Given the description of an element on the screen output the (x, y) to click on. 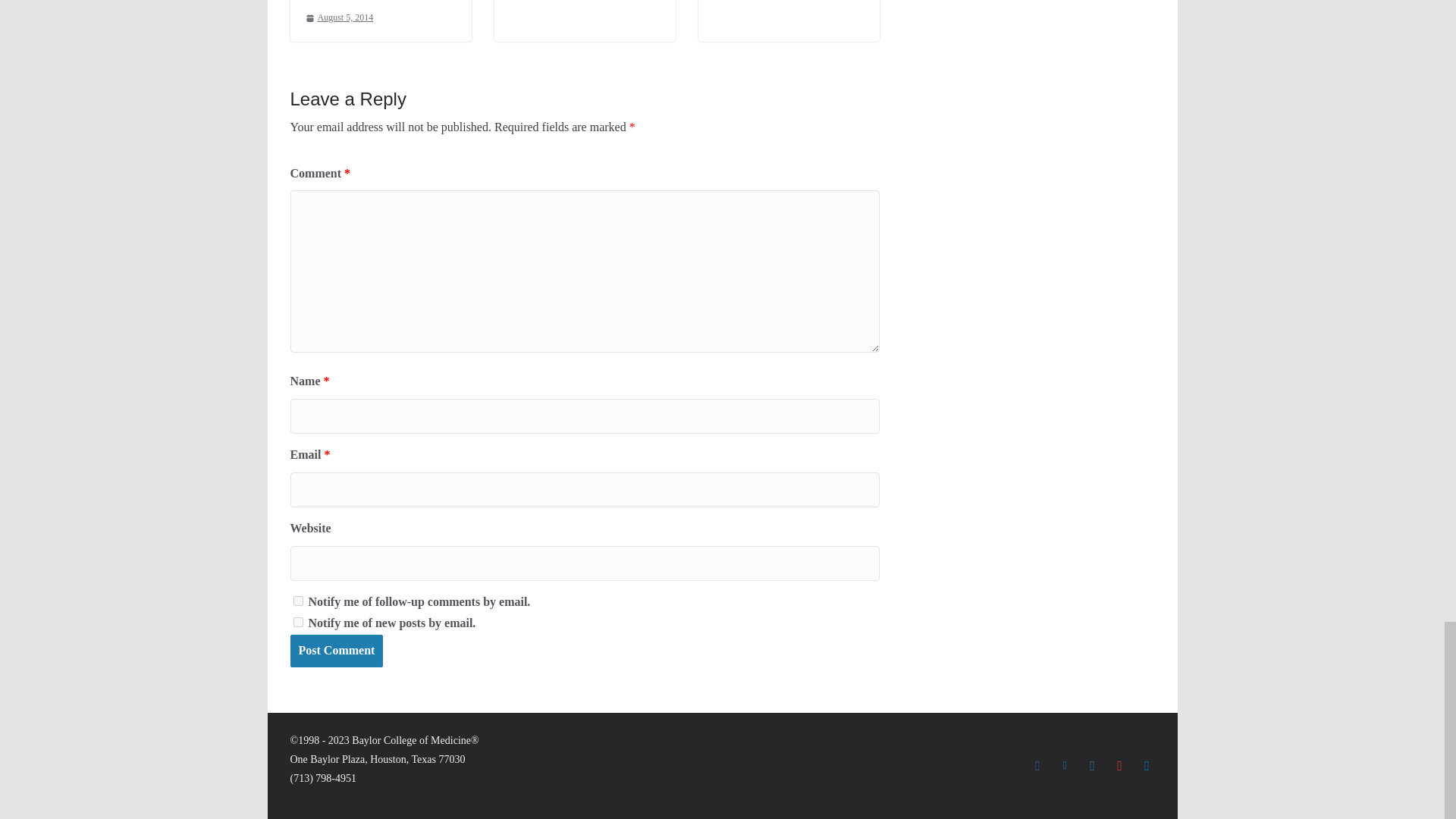
subscribe (297, 601)
3:15 pm (338, 17)
Post Comment (335, 650)
subscribe (297, 622)
